Given the description of an element on the screen output the (x, y) to click on. 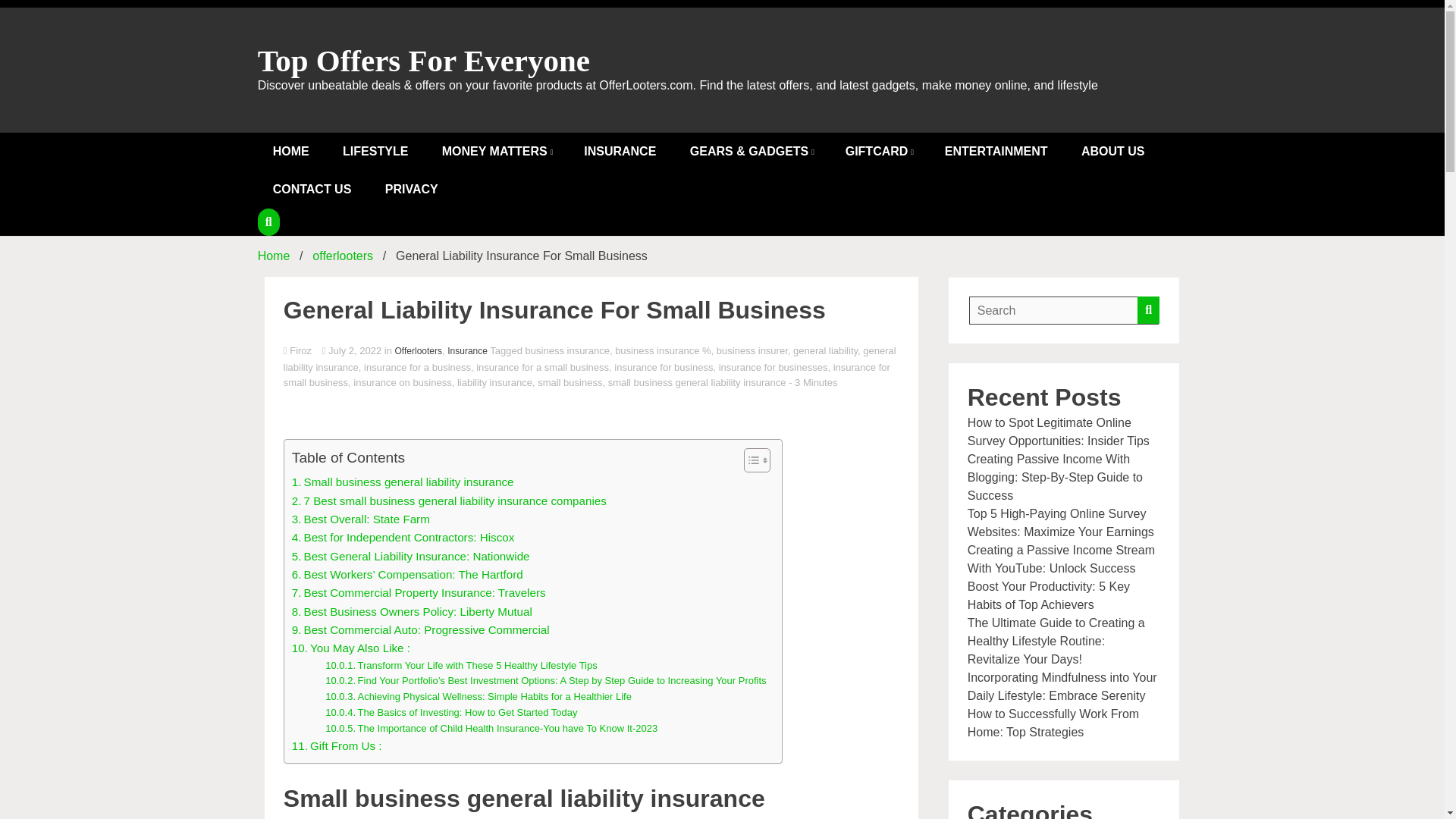
Estimated Reading Time of Article (813, 382)
ENTERTAINMENT (996, 151)
Offerlooters (418, 350)
INSURANCE (620, 151)
general liability (825, 350)
MONEY MATTERS (496, 151)
Best General Liability Insurance: Nationwide (410, 556)
insurance for a business (417, 367)
CONTACT US (311, 189)
insurance for a small business (542, 367)
